Given the description of an element on the screen output the (x, y) to click on. 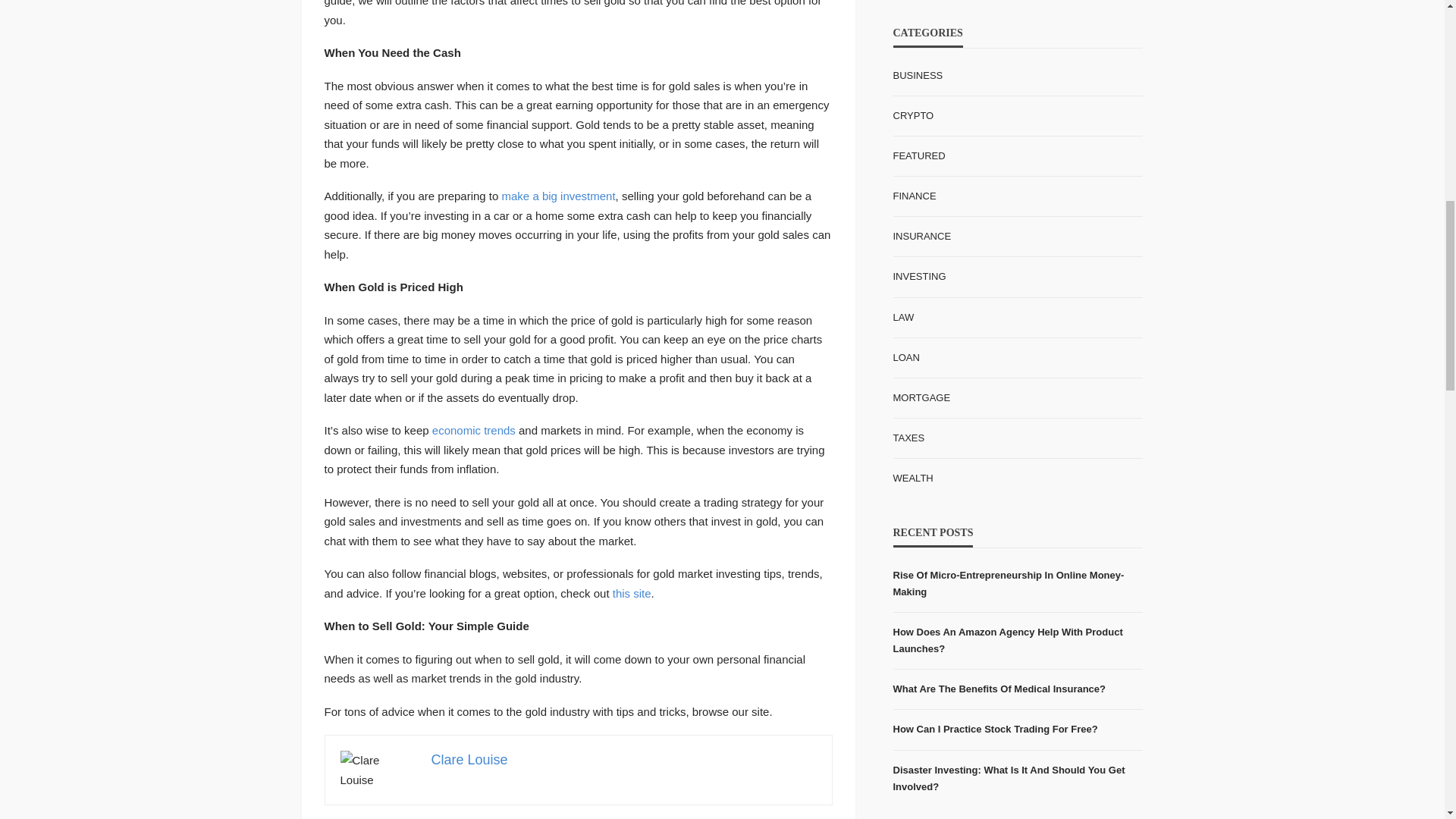
make a big investment (558, 195)
this site (631, 593)
Clare Louise (468, 759)
economic trends (473, 430)
